Given the description of an element on the screen output the (x, y) to click on. 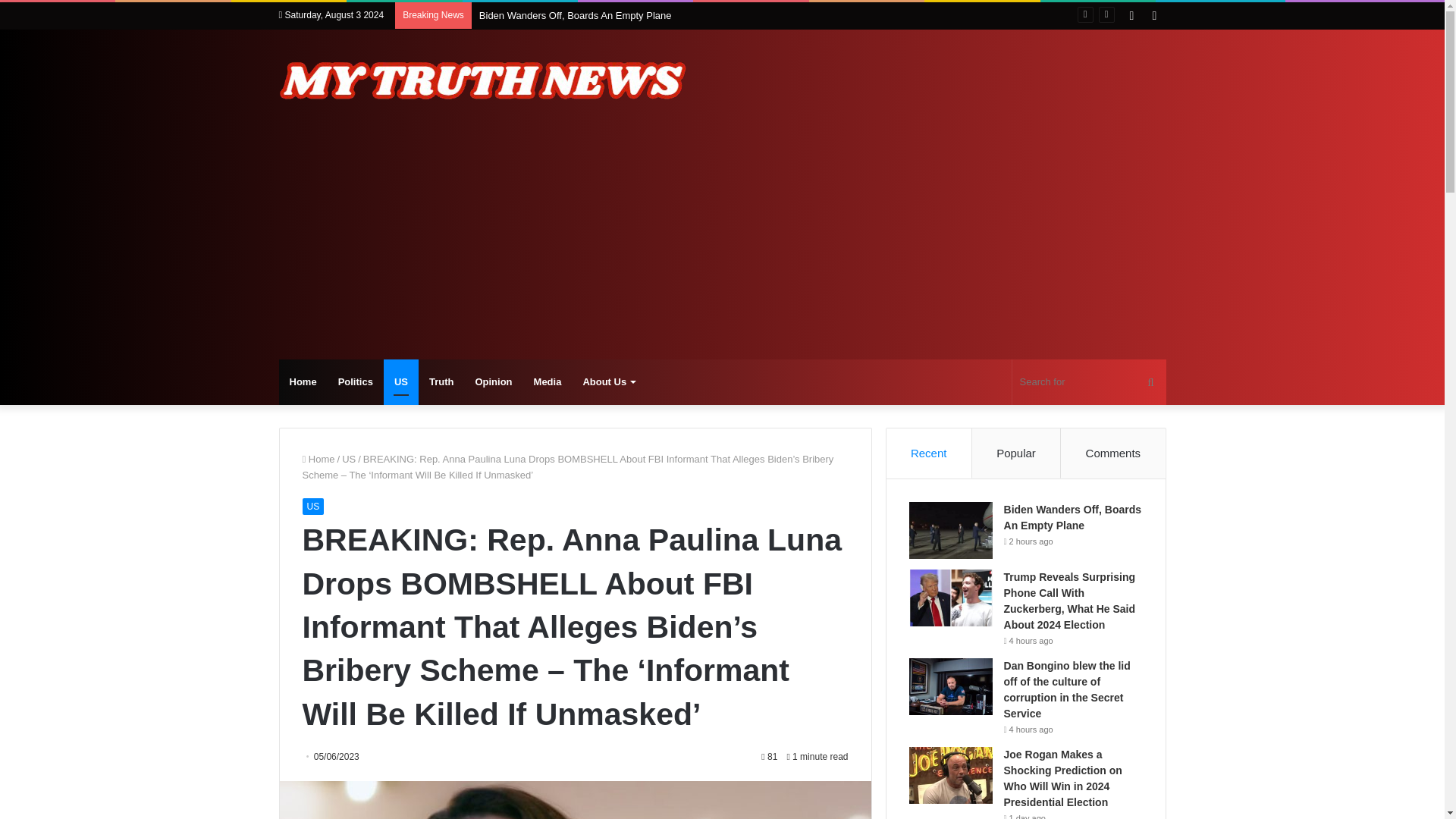
Biden Wanders Off, Boards An Empty Plane (575, 15)
Opinion (493, 381)
About Us (608, 381)
Search for (1088, 381)
US (348, 459)
Home (303, 381)
Media (547, 381)
My Truth News (483, 80)
Home (317, 459)
US (312, 506)
Truth (441, 381)
Politics (355, 381)
